Given the description of an element on the screen output the (x, y) to click on. 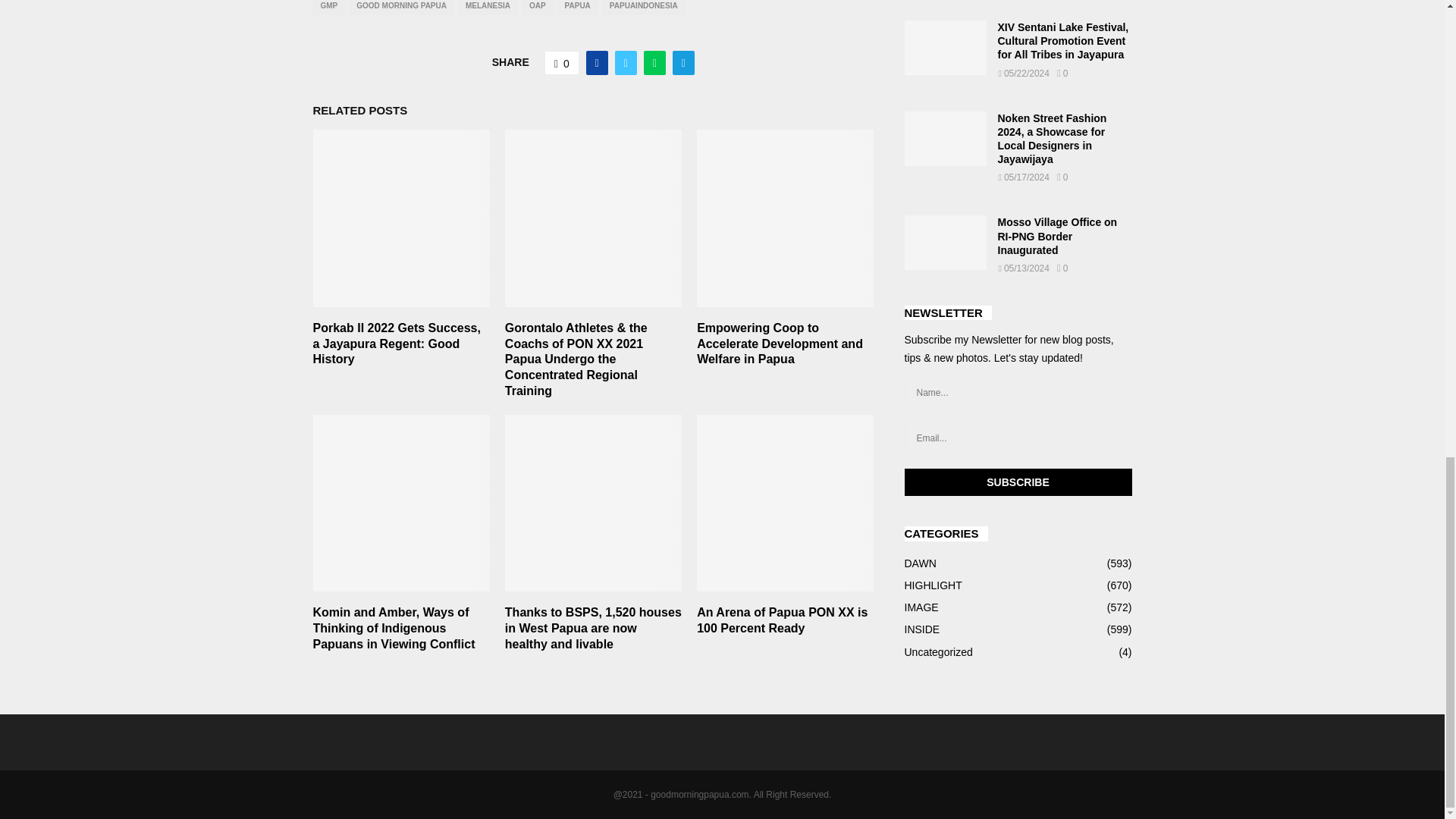
GOOD MORNING PAPUA (401, 7)
Subscribe (1017, 482)
PAPUAINDONESIA (643, 7)
OAP (537, 7)
GMP (329, 7)
PAPUA (577, 7)
0 (561, 62)
Porkab II 2022 Gets Success, a Jayapura Regent: Good History (396, 343)
